Given the description of an element on the screen output the (x, y) to click on. 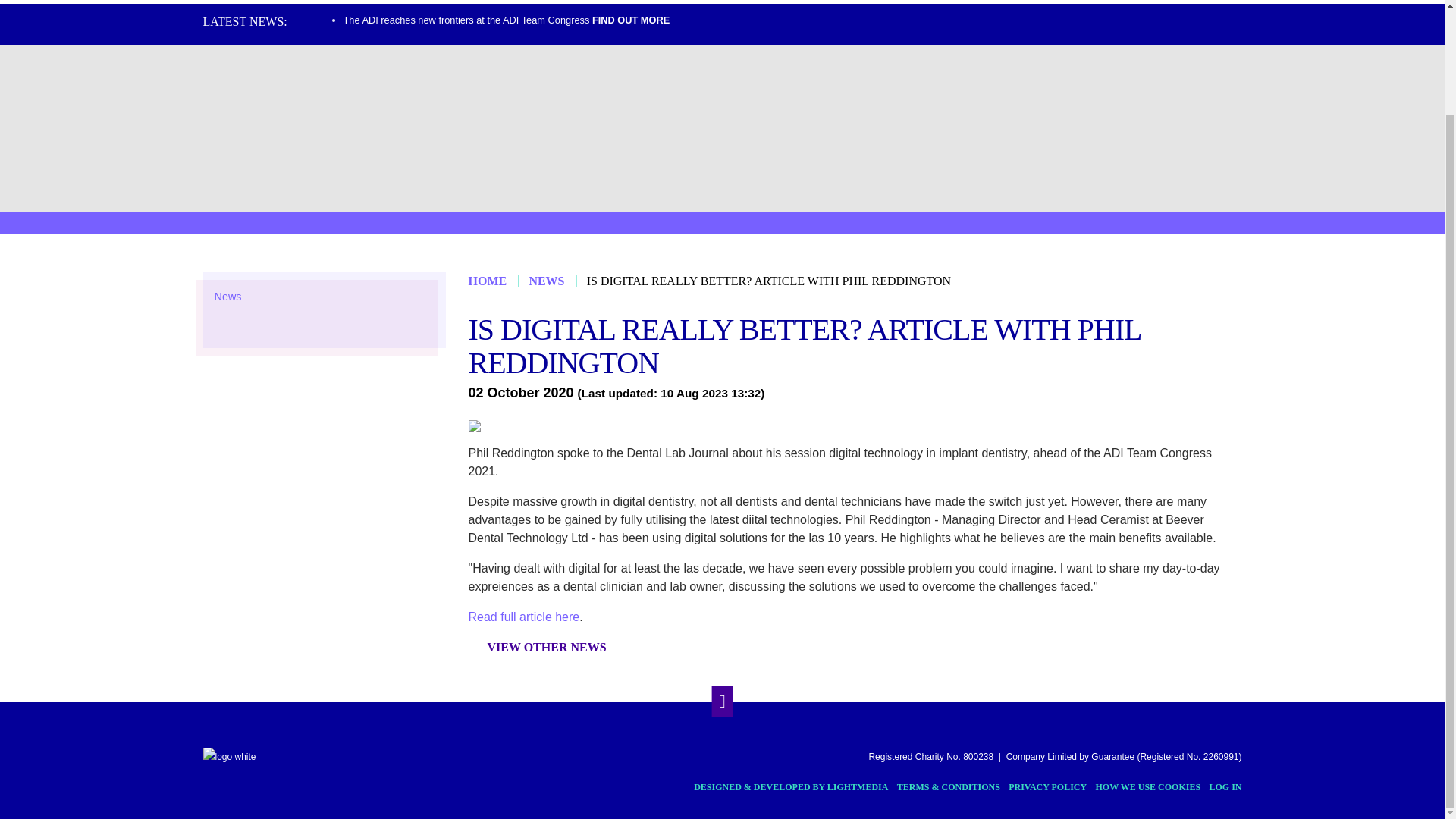
HOME (250, 2)
ABOUT ADI (358, 2)
ADI MEMBERSHIP (499, 2)
